Given the description of an element on the screen output the (x, y) to click on. 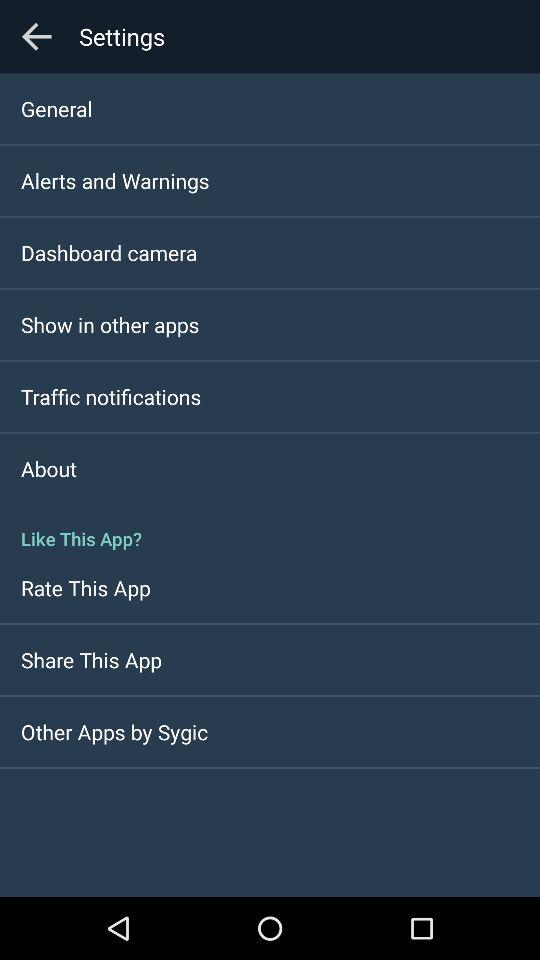
launch the app below dashboard camera app (110, 324)
